Given the description of an element on the screen output the (x, y) to click on. 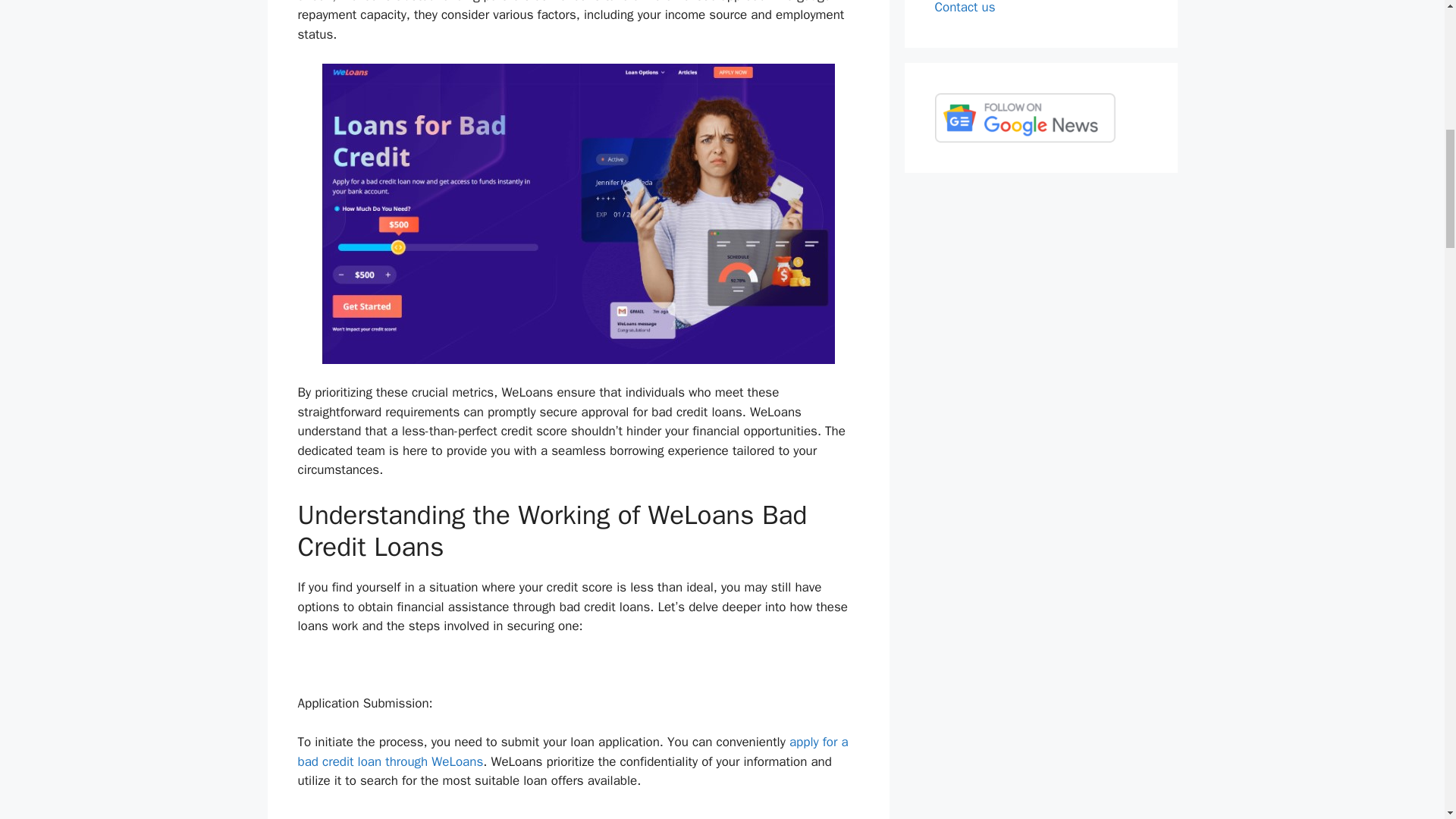
Scroll back to top (1406, 720)
Contact us (964, 7)
apply for a bad credit loan through WeLoans (572, 751)
